Given the description of an element on the screen output the (x, y) to click on. 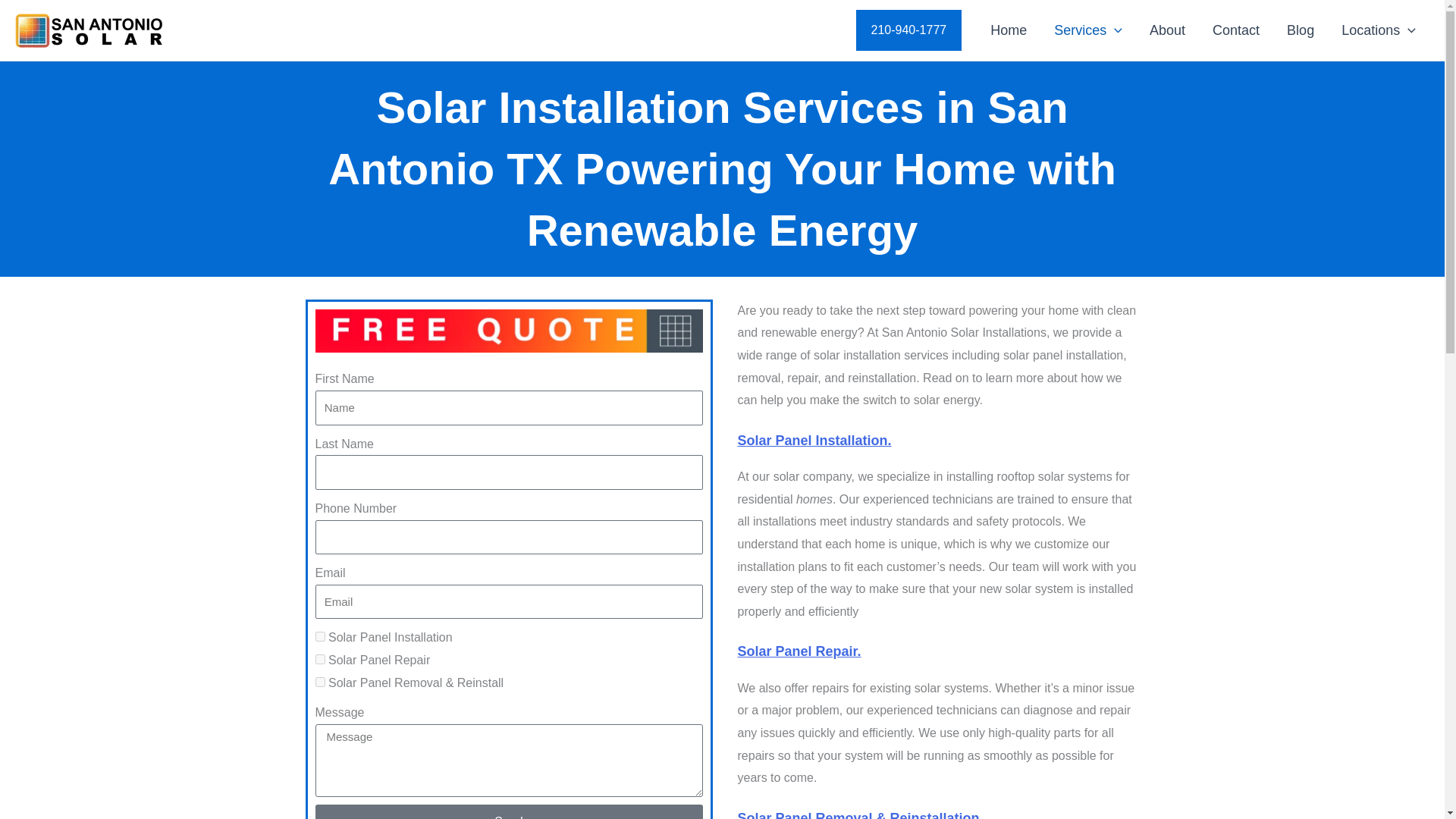
Blog (1299, 30)
About (1166, 30)
Services (1088, 30)
210-940-1777 (909, 29)
Solar Panel Repair (319, 659)
Locations (1378, 30)
Contact (1235, 30)
Home (1008, 30)
Solar Panel Installation (319, 636)
